Given the description of an element on the screen output the (x, y) to click on. 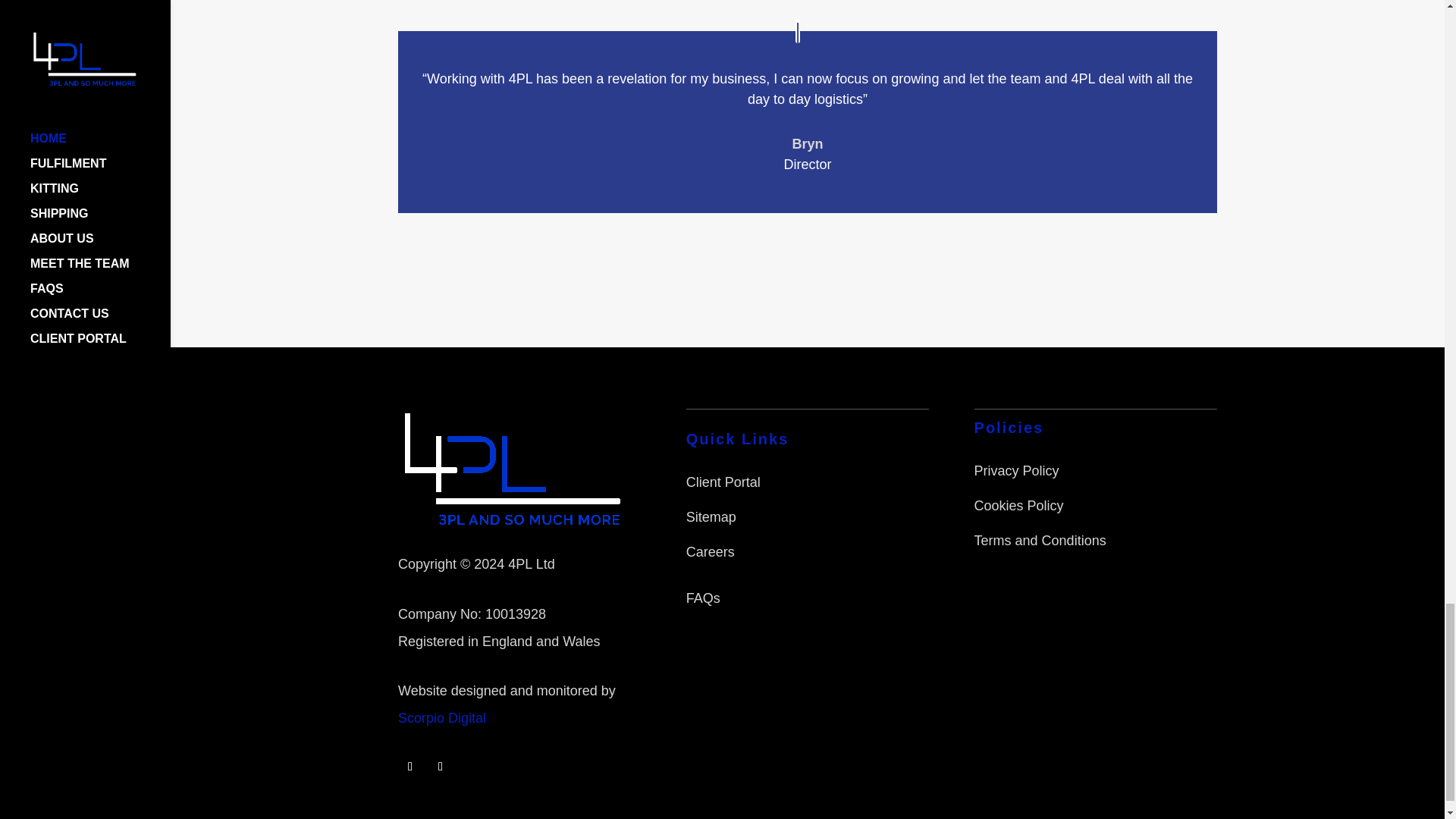
Scorpio Digital (441, 717)
4PL-Logo-With-Strapline-White (512, 467)
Follow on LinkedIn (409, 766)
Follow on X (440, 766)
